Given the description of an element on the screen output the (x, y) to click on. 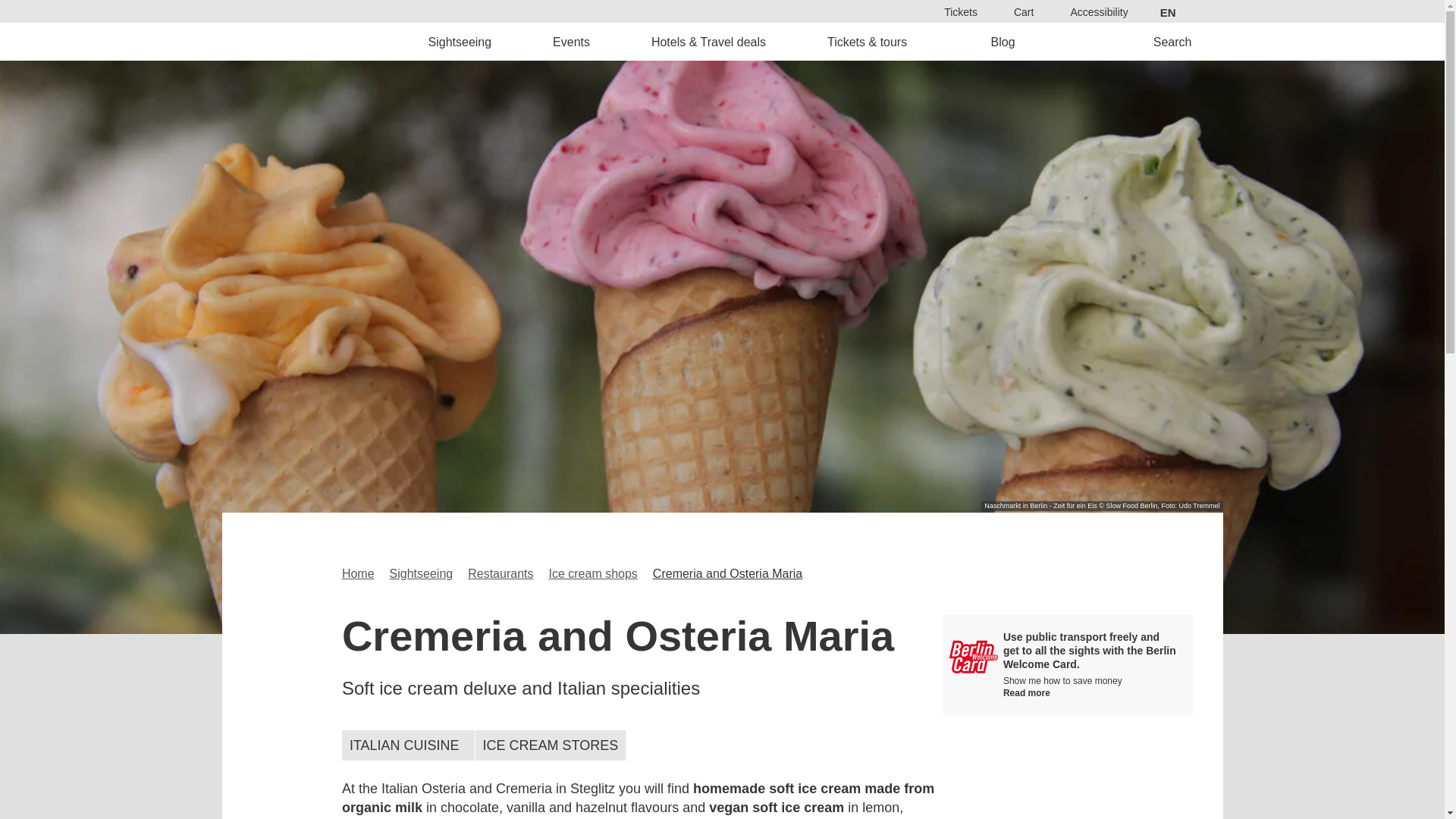
Home (327, 41)
Sightseeing (460, 41)
Events (571, 41)
Find (768, 432)
